Given the description of an element on the screen output the (x, y) to click on. 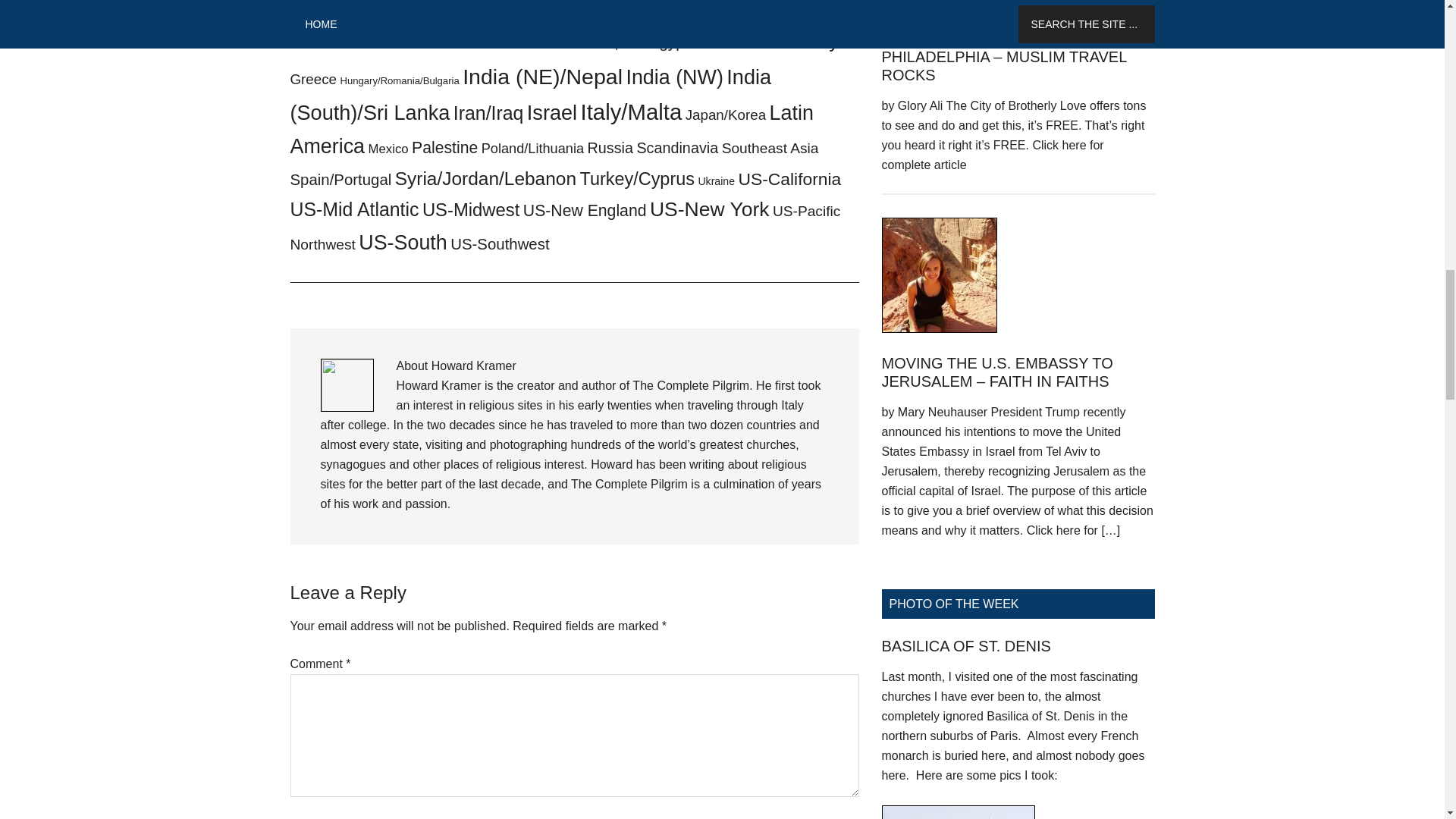
British Isles (548, 26)
Central Asia (467, 42)
Caribbean (402, 43)
Canada (357, 43)
Balkans (598, 8)
